Given the description of an element on the screen output the (x, y) to click on. 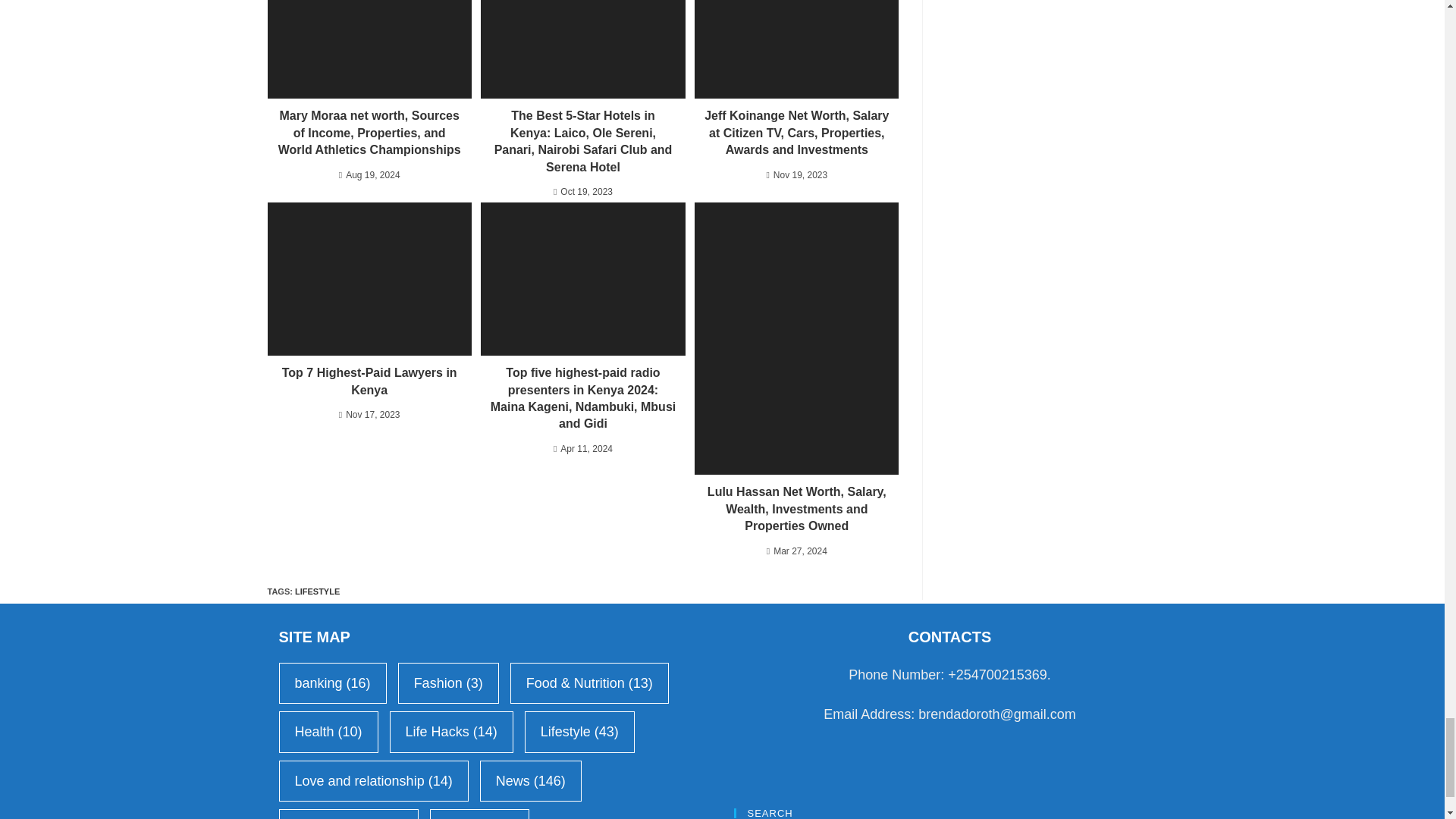
Top 7 Highest-Paid Lawyers in Kenya (368, 381)
